Given the description of an element on the screen output the (x, y) to click on. 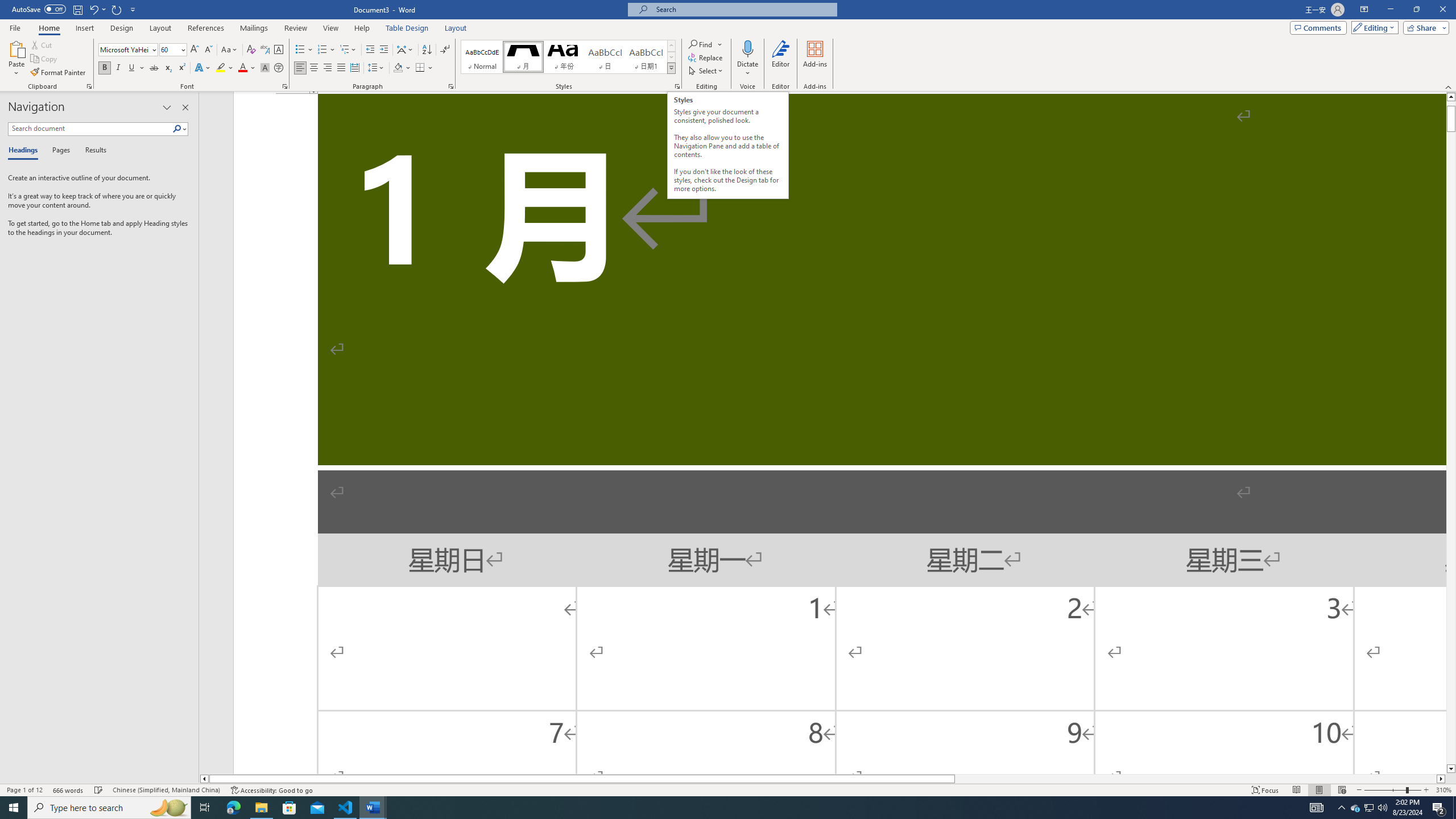
Restore Down (1416, 9)
Spelling and Grammar Check Checking (98, 790)
Asian Layout (405, 49)
Search (179, 128)
Underline (131, 67)
Grow Font (193, 49)
Home (48, 28)
Decrease Indent (370, 49)
Line up (1450, 96)
Show/Hide Editing Marks (444, 49)
Accessibility Checker Accessibility: Good to go (271, 790)
Phonetic Guide... (264, 49)
Cut (42, 44)
Page right (1196, 778)
Underline (136, 67)
